Given the description of an element on the screen output the (x, y) to click on. 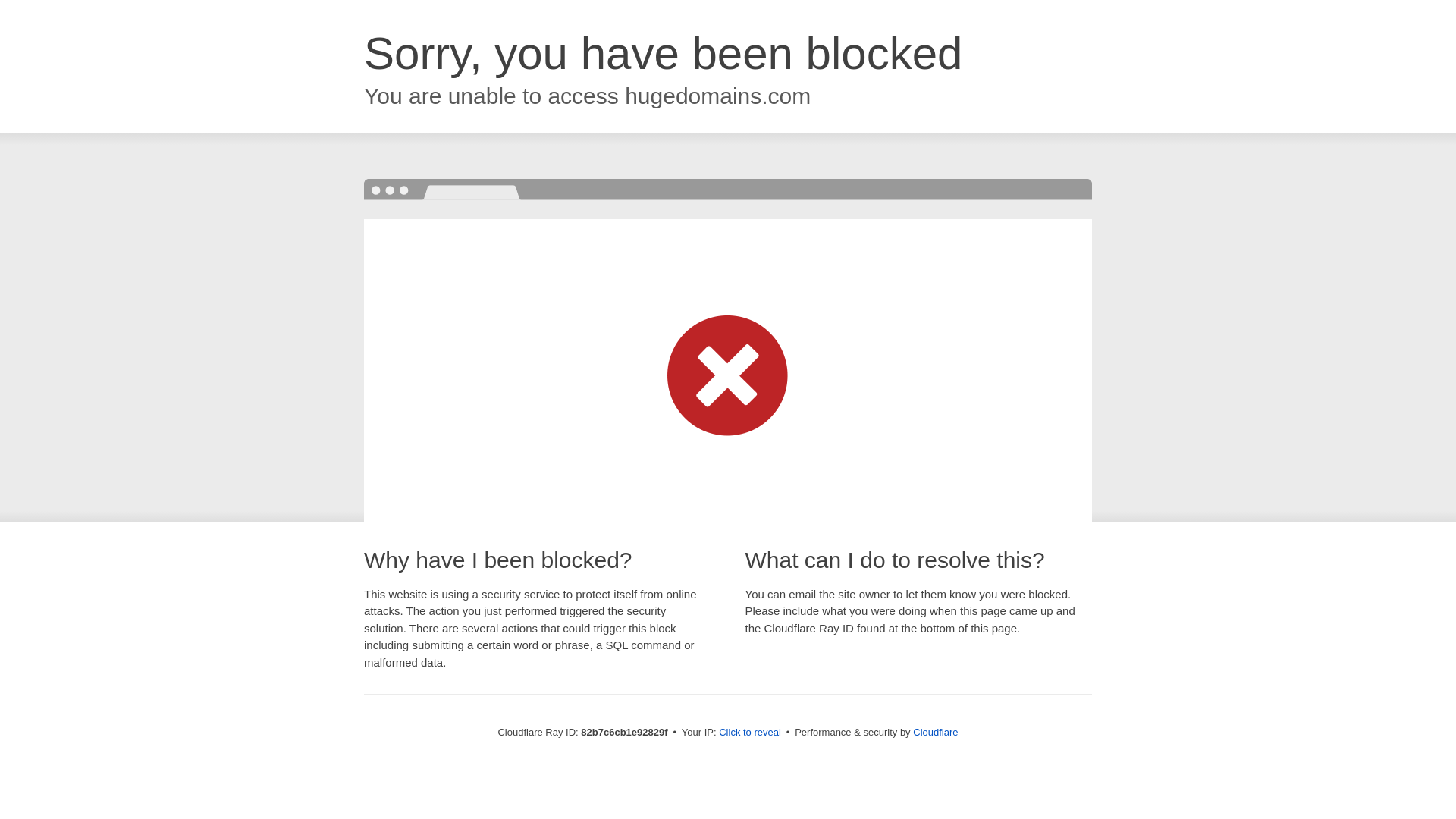
Click to reveal Element type: text (749, 732)
Cloudflare Element type: text (935, 731)
